Given the description of an element on the screen output the (x, y) to click on. 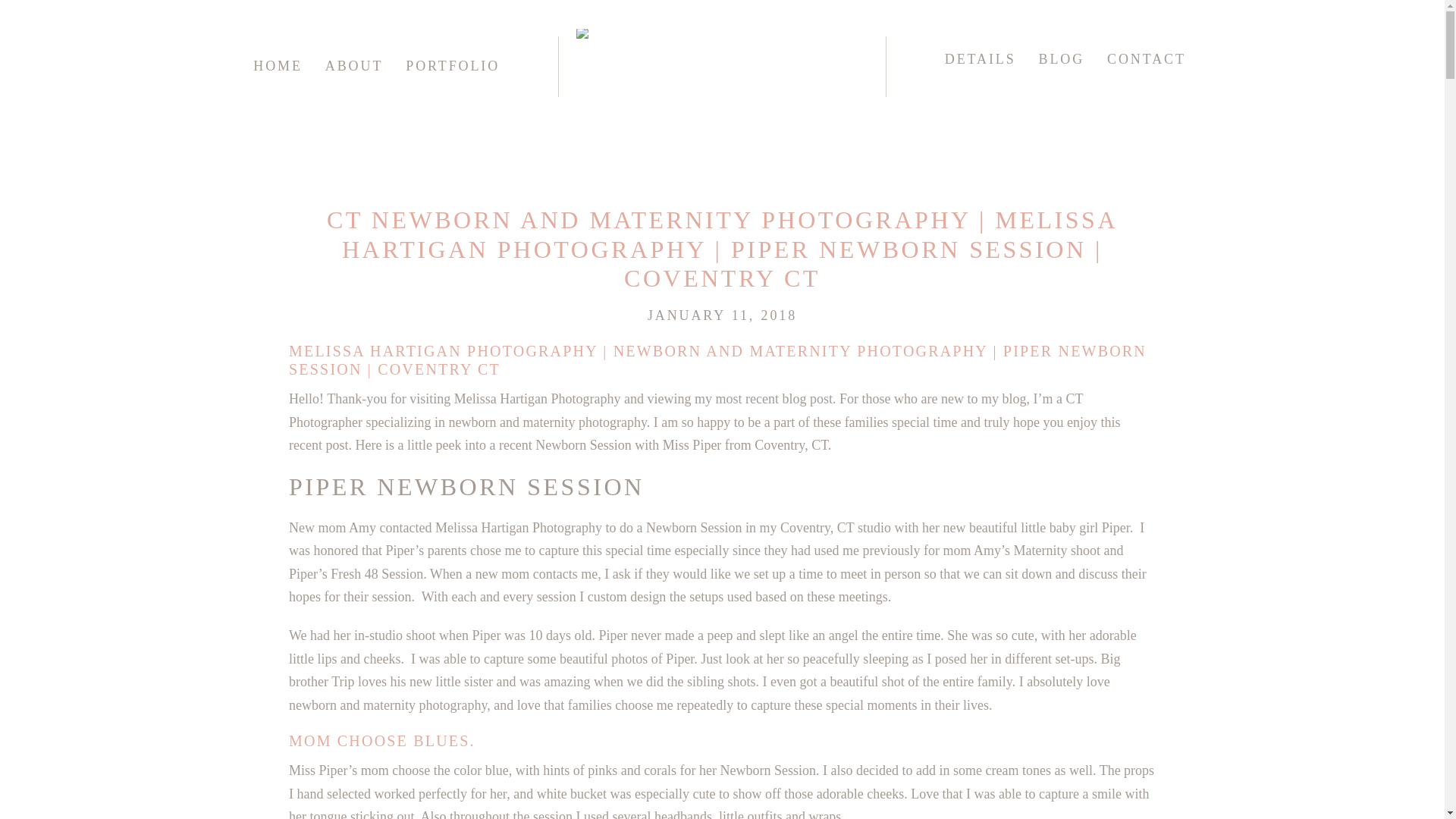
HOME (277, 65)
PORTFOLIO (452, 65)
DETAILS (980, 58)
ABOUT (353, 65)
